Given the description of an element on the screen output the (x, y) to click on. 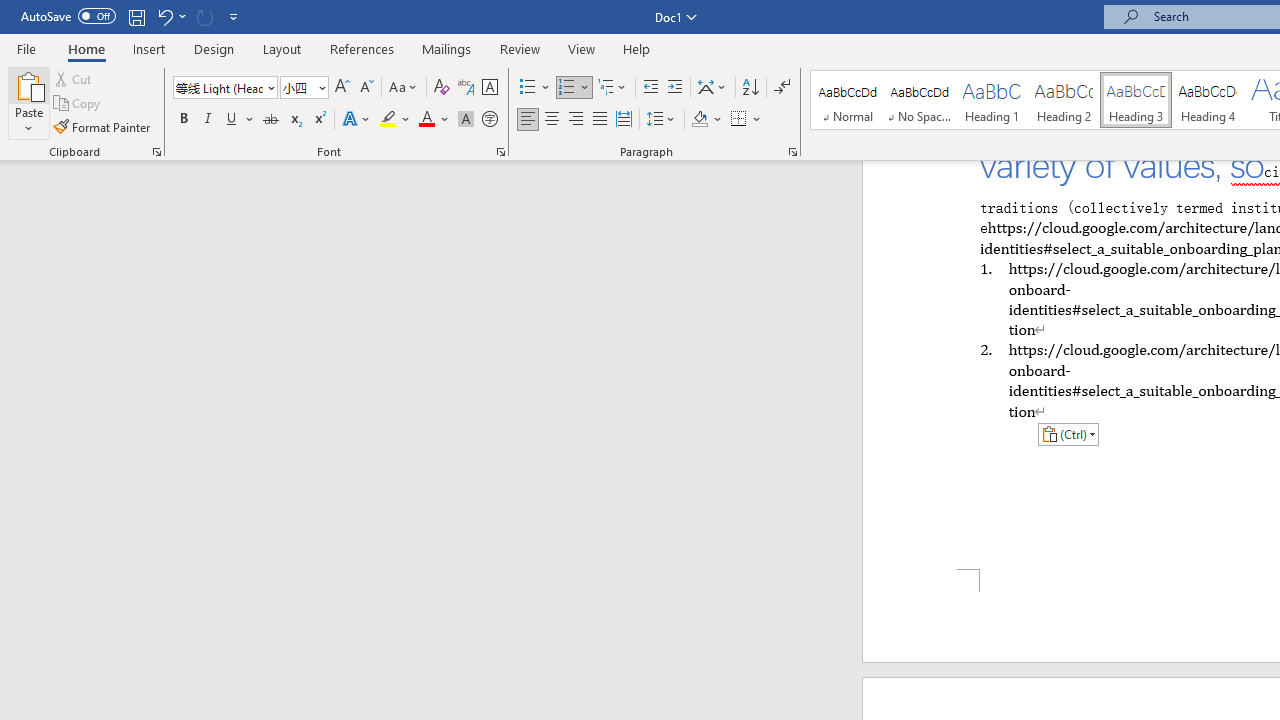
Line and Paragraph Spacing (661, 119)
Justify (599, 119)
Heading 4 (1208, 100)
Copy (78, 103)
Show/Hide Editing Marks (781, 87)
Character Shading (465, 119)
Change Case (404, 87)
Can't Repeat (204, 15)
